Given the description of an element on the screen output the (x, y) to click on. 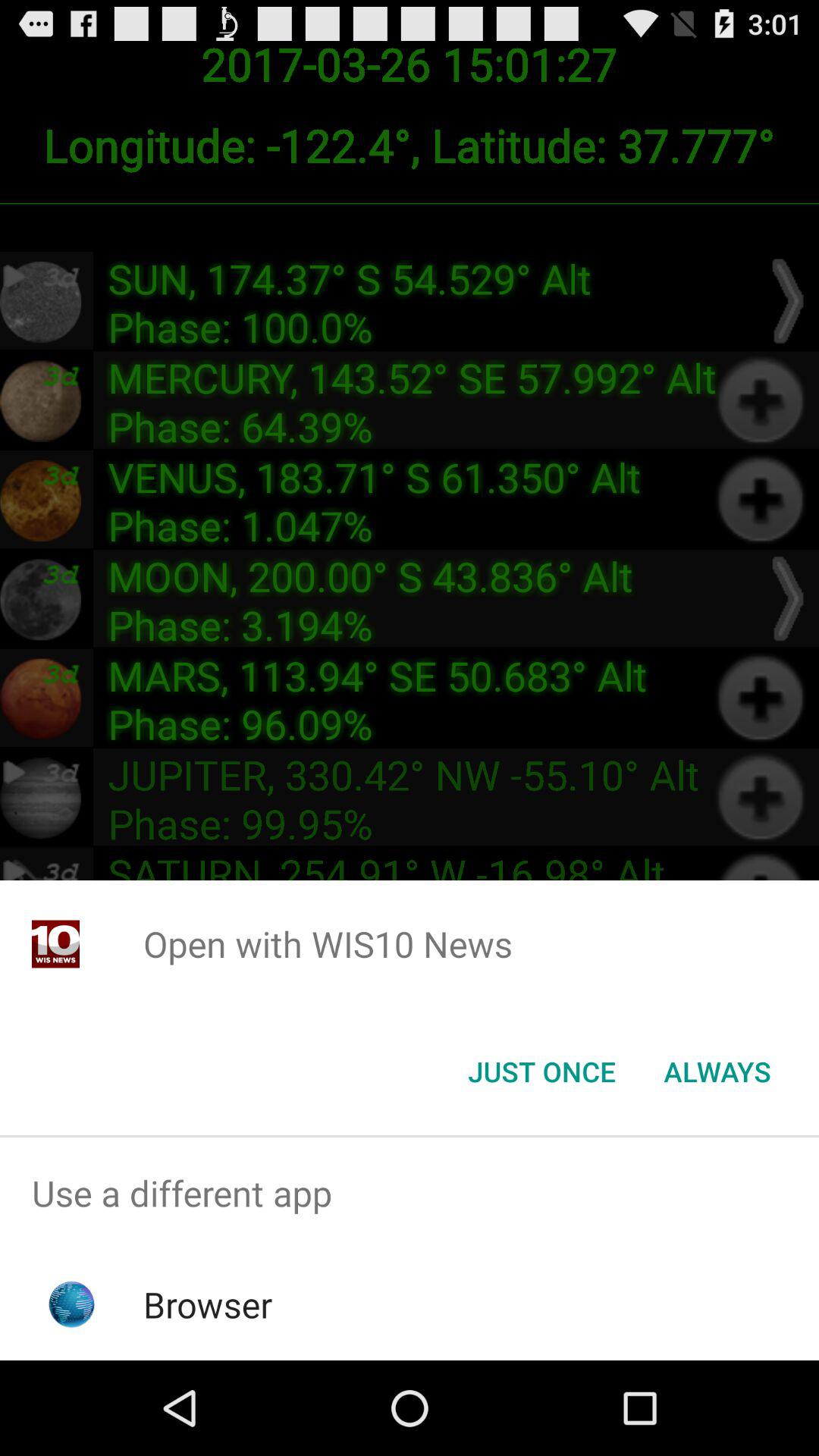
press the icon at the bottom right corner (717, 1071)
